Given the description of an element on the screen output the (x, y) to click on. 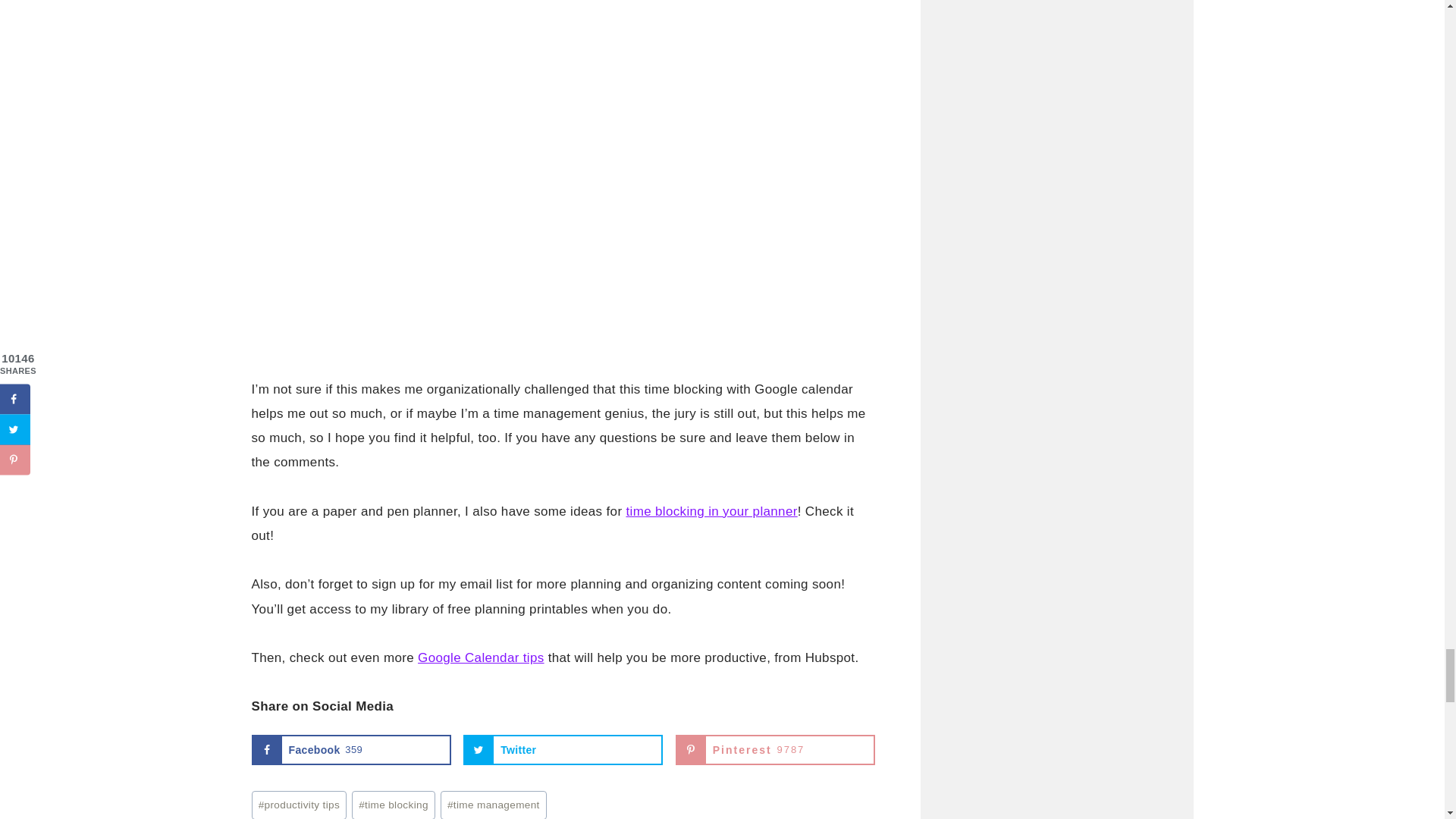
Save to Pinterest (775, 749)
Share on Twitter (562, 749)
time management (494, 805)
Share on Facebook (351, 749)
Twitter (562, 749)
time blocking in your planner (351, 749)
productivity tips (711, 511)
time blocking (299, 805)
Google Calendar tips (393, 805)
